Given the description of an element on the screen output the (x, y) to click on. 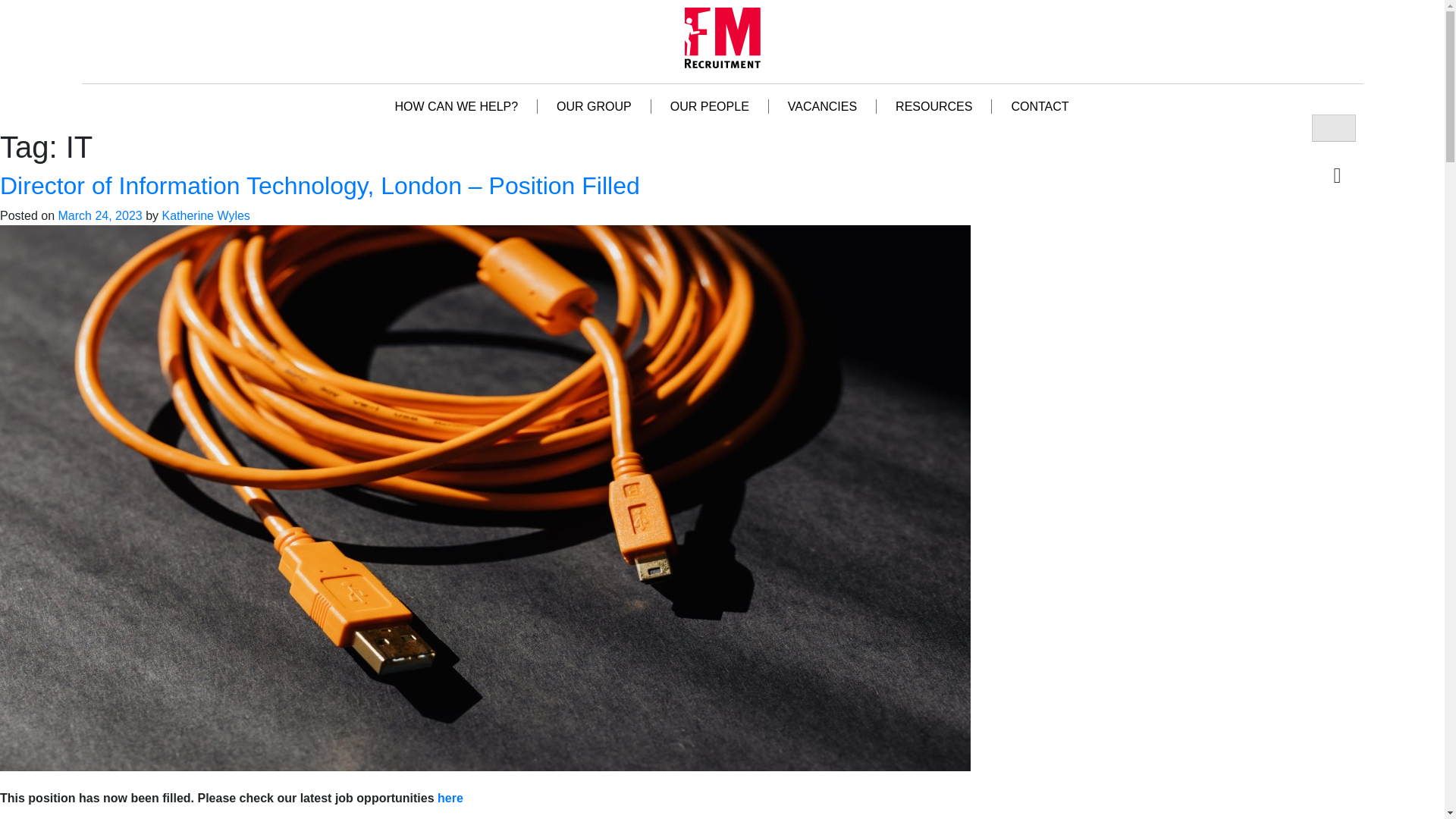
OUR GROUP (593, 106)
CONTACT (1039, 106)
VACANCIES (822, 106)
OUR PEOPLE (709, 106)
HOW CAN WE HELP? (456, 106)
RESOURCES (933, 106)
March 24, 2023 (99, 215)
here (450, 797)
Katherine Wyles (204, 215)
